Given the description of an element on the screen output the (x, y) to click on. 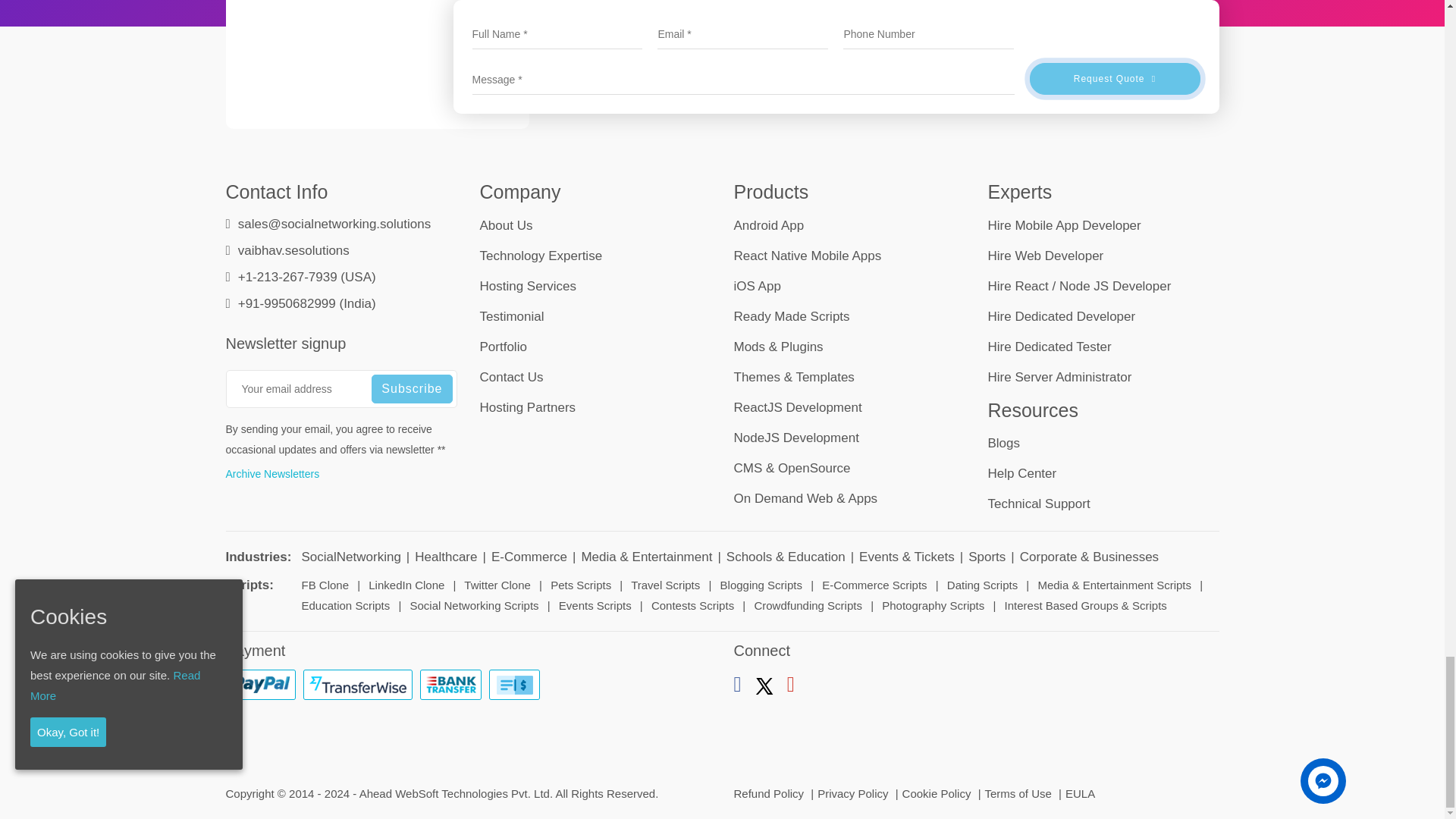
PayPal (260, 684)
Twitter (764, 686)
TransferWise (357, 684)
Bank Transfer (450, 684)
Subscribe (411, 388)
DMCA.com Protection Status (1105, 725)
Cheque (512, 684)
